Given the description of an element on the screen output the (x, y) to click on. 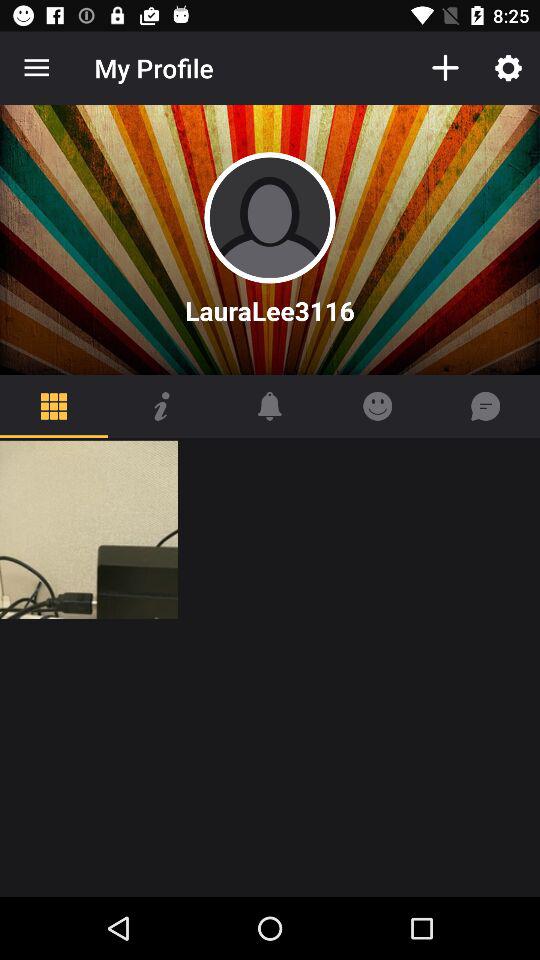
select the item to the left of my profile item (36, 68)
